Given the description of an element on the screen output the (x, y) to click on. 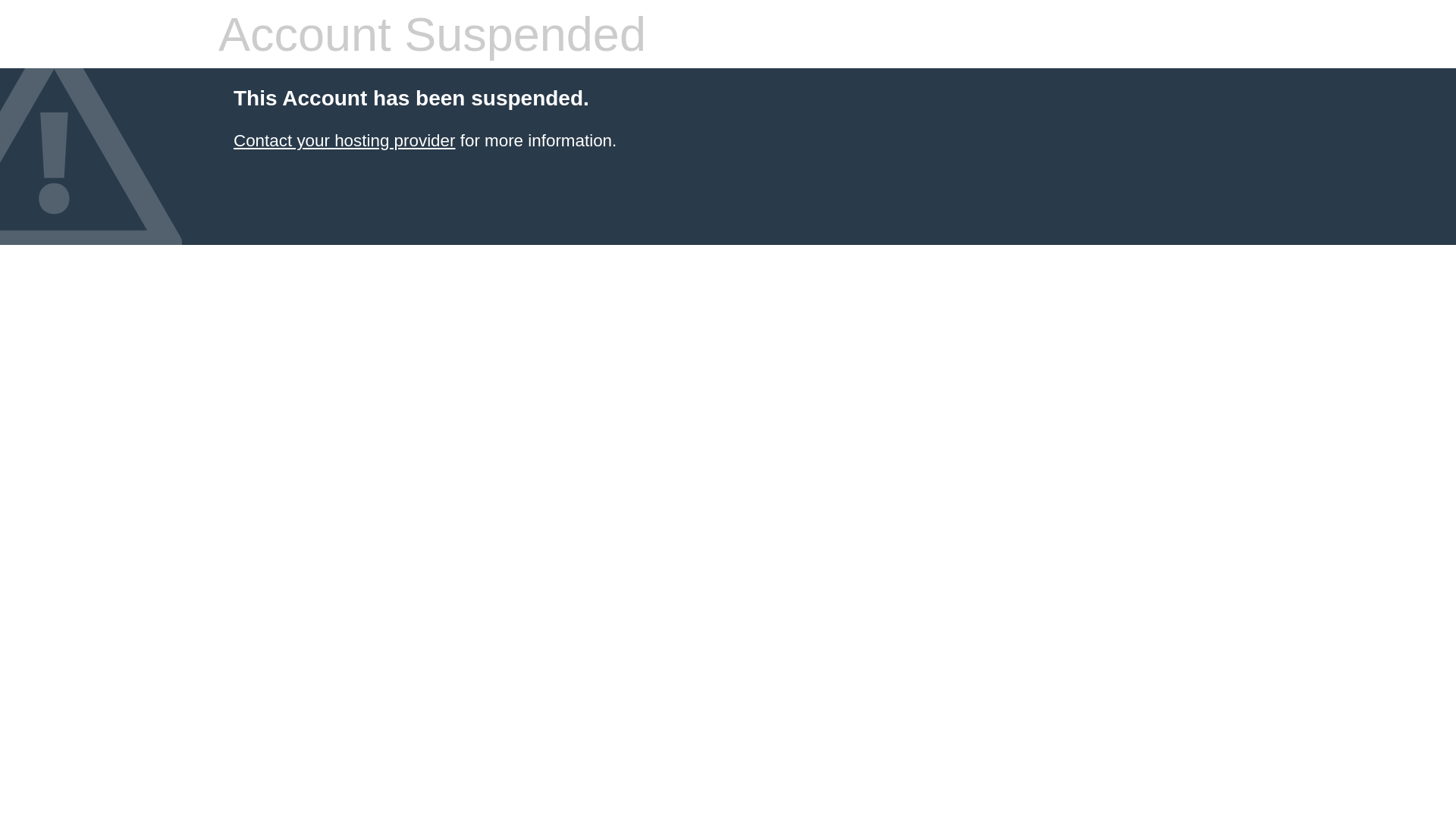
Contact your hosting provider Element type: text (344, 140)
